Given the description of an element on the screen output the (x, y) to click on. 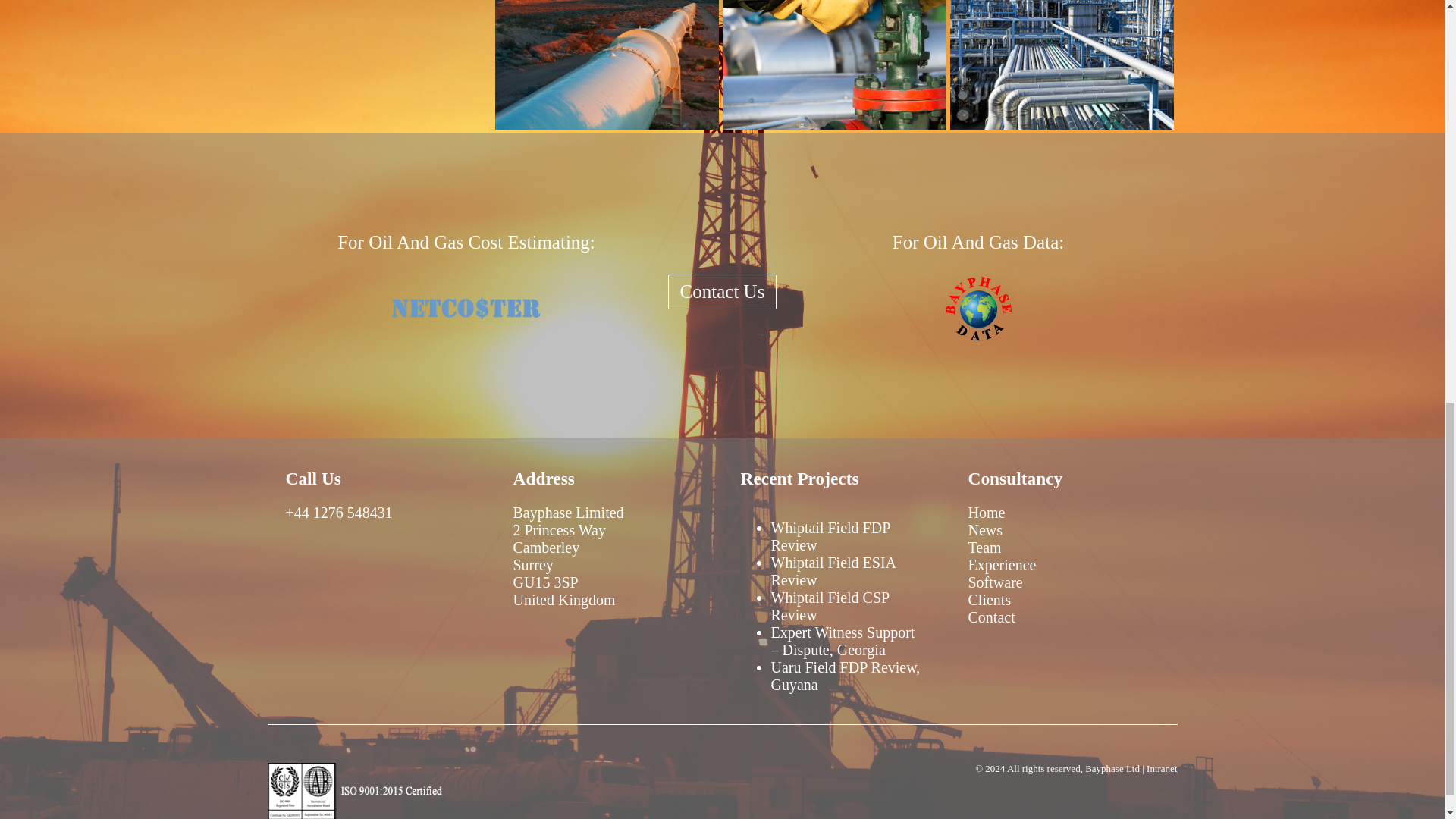
Whiptail Field ESIA Review (832, 571)
Intranet (1161, 767)
Whiptail Field CSP Review (829, 605)
Contact Us (722, 291)
Whiptail Field FDP Review (829, 536)
Experience (1001, 564)
Team (984, 547)
Uaru Field FDP Review, Guyana (845, 675)
News (985, 529)
Clients (989, 599)
Home (986, 512)
Software (995, 582)
Contact (991, 617)
